Given the description of an element on the screen output the (x, y) to click on. 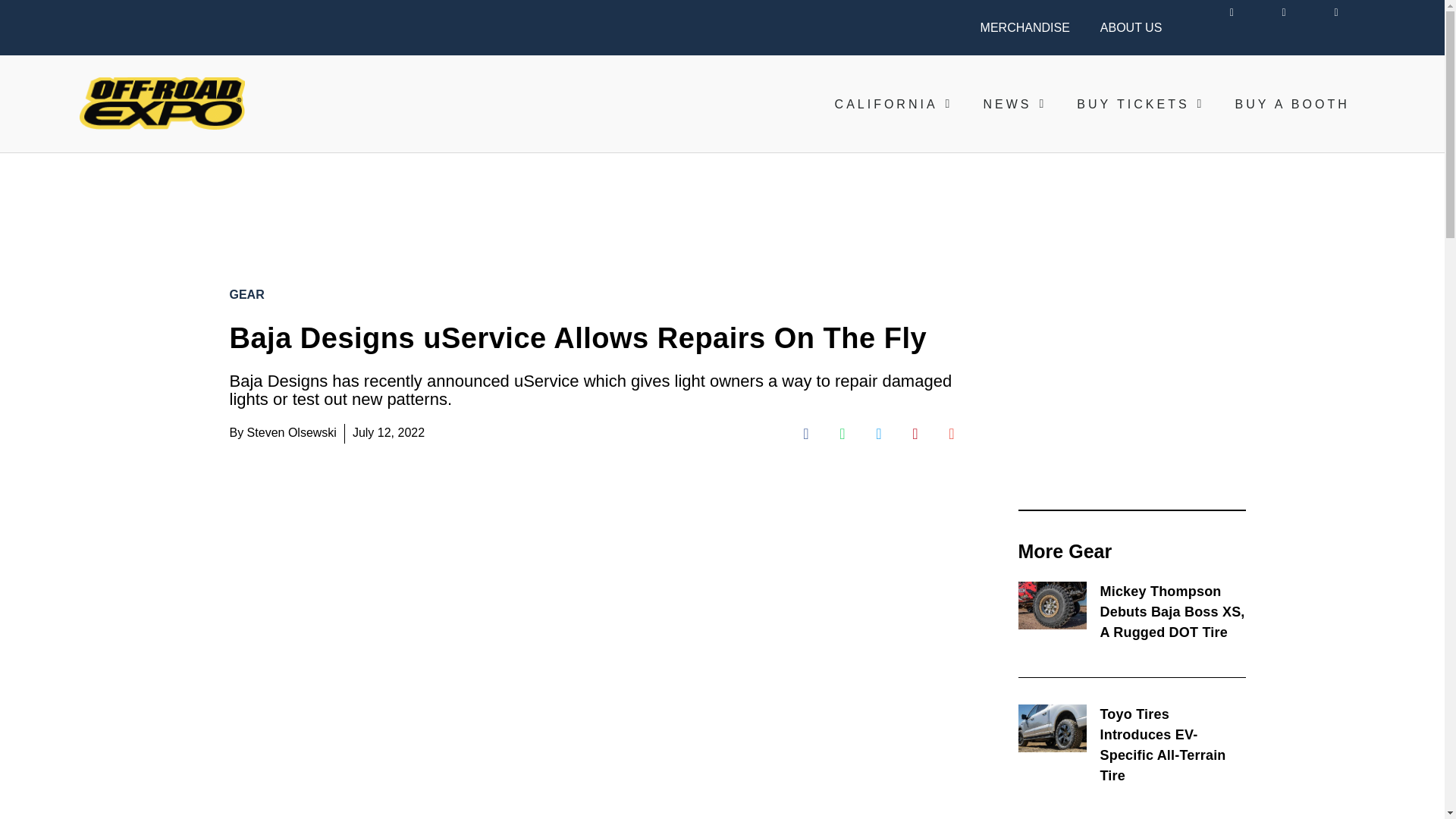
ABOUT US (1130, 27)
MERCHANDISE (1024, 27)
BUY A BOOTH (1292, 104)
BUY TICKETS (1140, 104)
NEWS (1014, 104)
CALIFORNIA (893, 104)
